Given the description of an element on the screen output the (x, y) to click on. 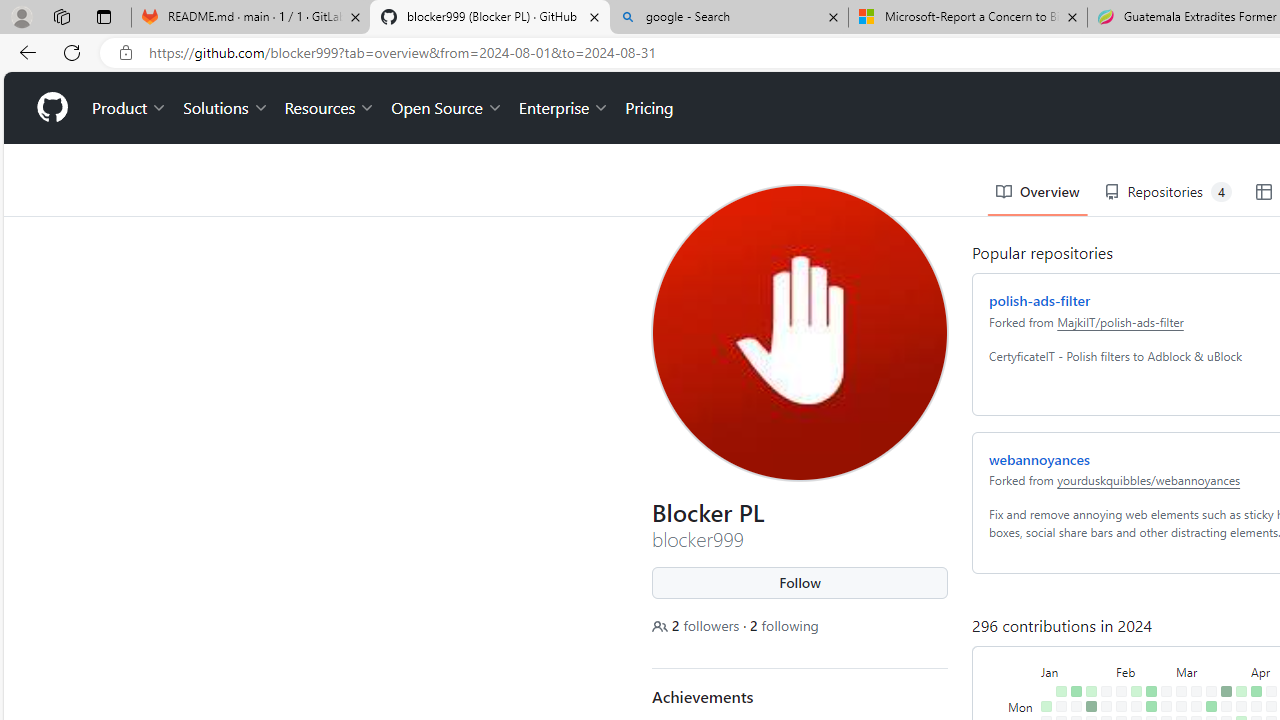
No contributions on February 21st. (1147, 664)
No contributions on February 7th. (1117, 664)
Open Source (442, 35)
13 contributions on January 17th. (1072, 664)
No contributions on January 30th. (1102, 649)
3 contributions on March 1st. (1162, 694)
No contributions on February 1st. (1102, 678)
No contributions on March 6th. (1177, 664)
webannoyances (1035, 386)
No contributions on January 5th. (1042, 694)
No contributions on February 4th. (1117, 619)
1 contribution on February 23rd. (1147, 694)
